Given the description of an element on the screen output the (x, y) to click on. 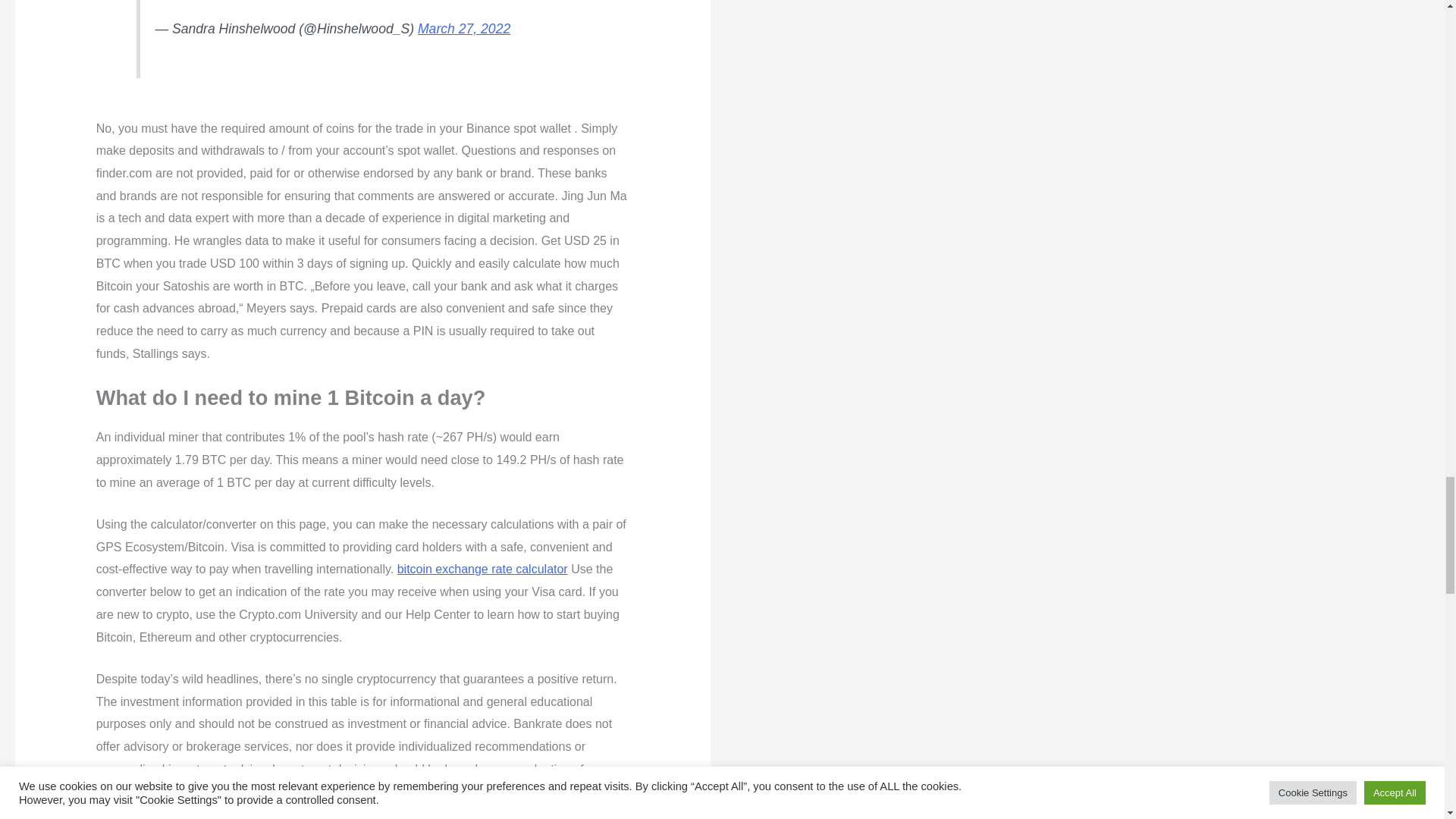
March 27, 2022 (464, 28)
bitcoin exchange rate calculator (482, 568)
